Given the description of an element on the screen output the (x, y) to click on. 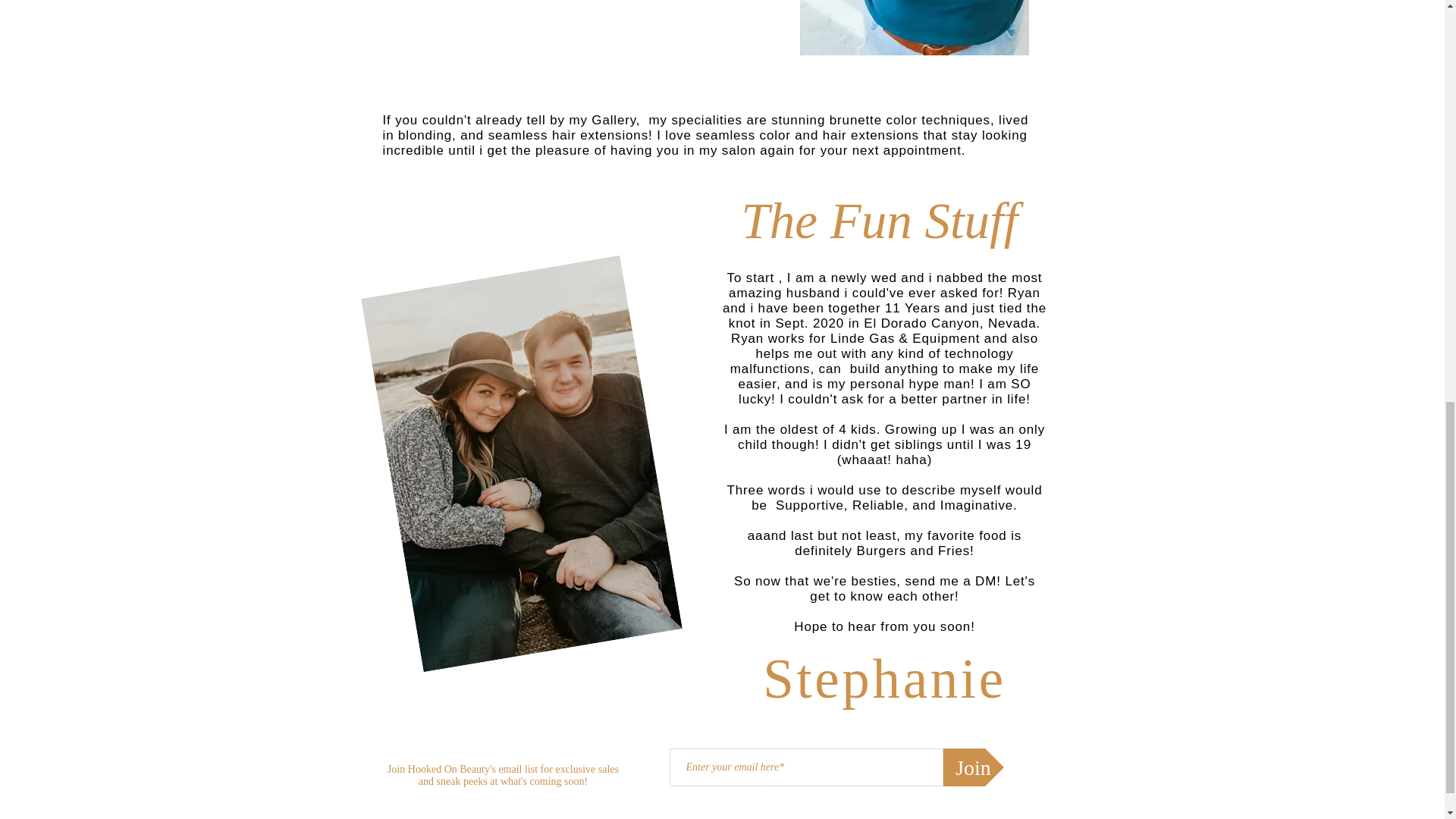
Join (973, 767)
